Given the description of an element on the screen output the (x, y) to click on. 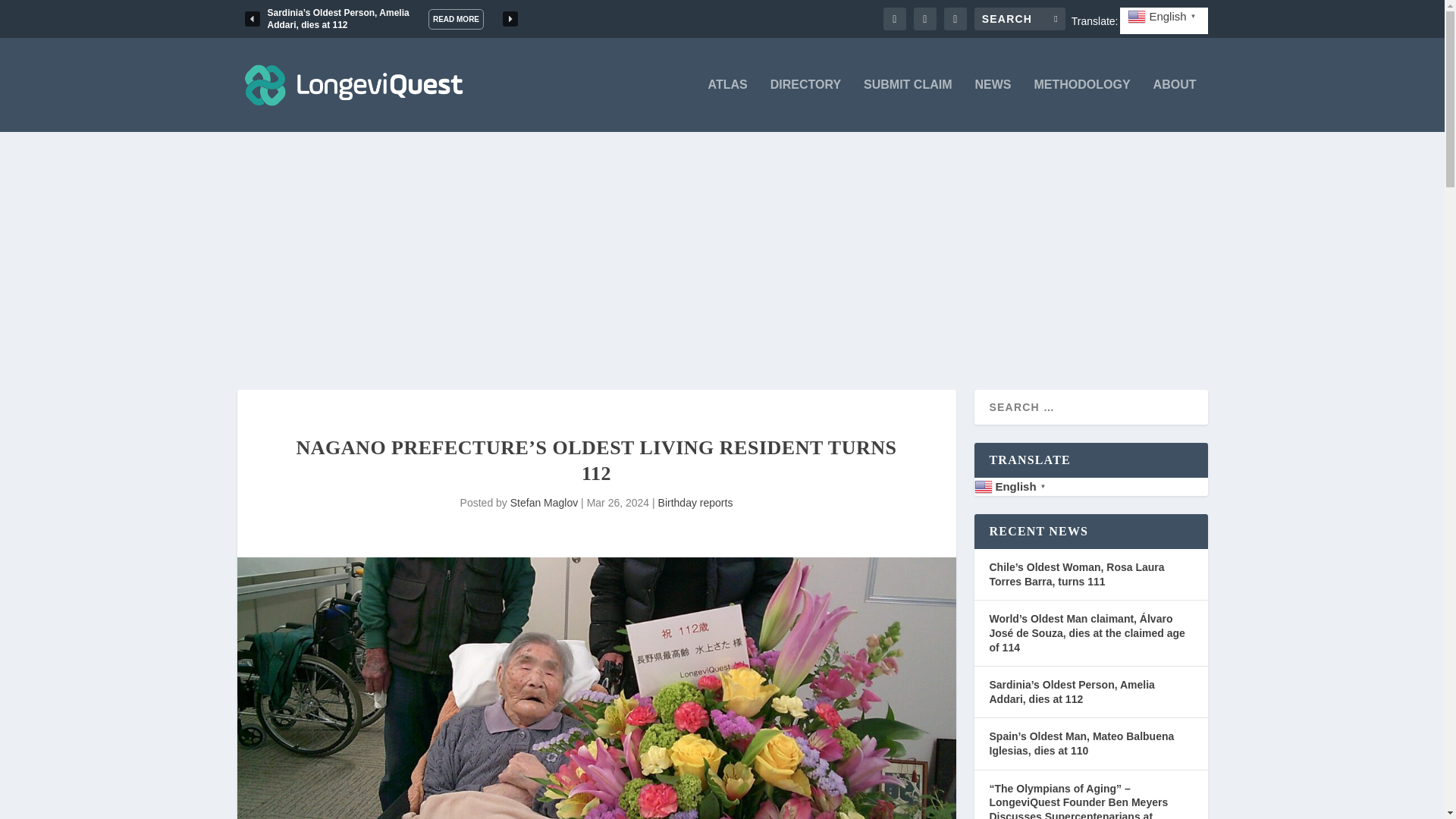
METHODOLOGY (1082, 104)
DIRECTORY (805, 104)
Search for: (1019, 18)
SUBMIT CLAIM (907, 104)
READ MORE (455, 19)
Posts by Stefan Maglov (544, 502)
